Given the description of an element on the screen output the (x, y) to click on. 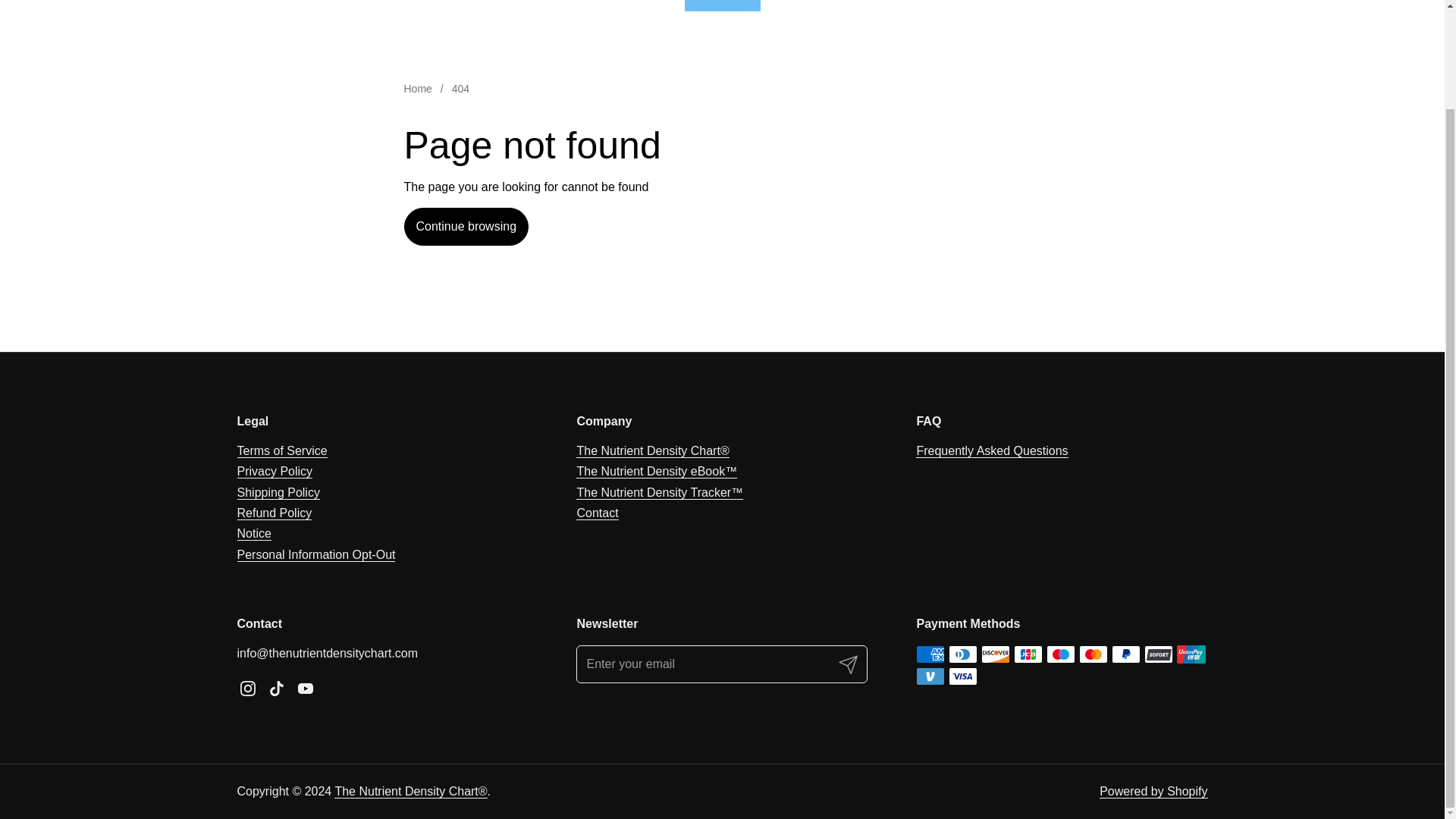
Privacy Policy (274, 471)
Home (416, 89)
Powered by Shopify (1153, 791)
TikTok (276, 688)
Continue browsing (465, 226)
Terms of Service (280, 450)
Contact (596, 513)
Personal Information Opt-Out (314, 554)
Frequently Asked Questions (991, 450)
YouTube (305, 688)
Instagram (247, 688)
Submit (848, 664)
Shipping Policy (276, 492)
Notice (252, 533)
Refund Policy (273, 513)
